Given the description of an element on the screen output the (x, y) to click on. 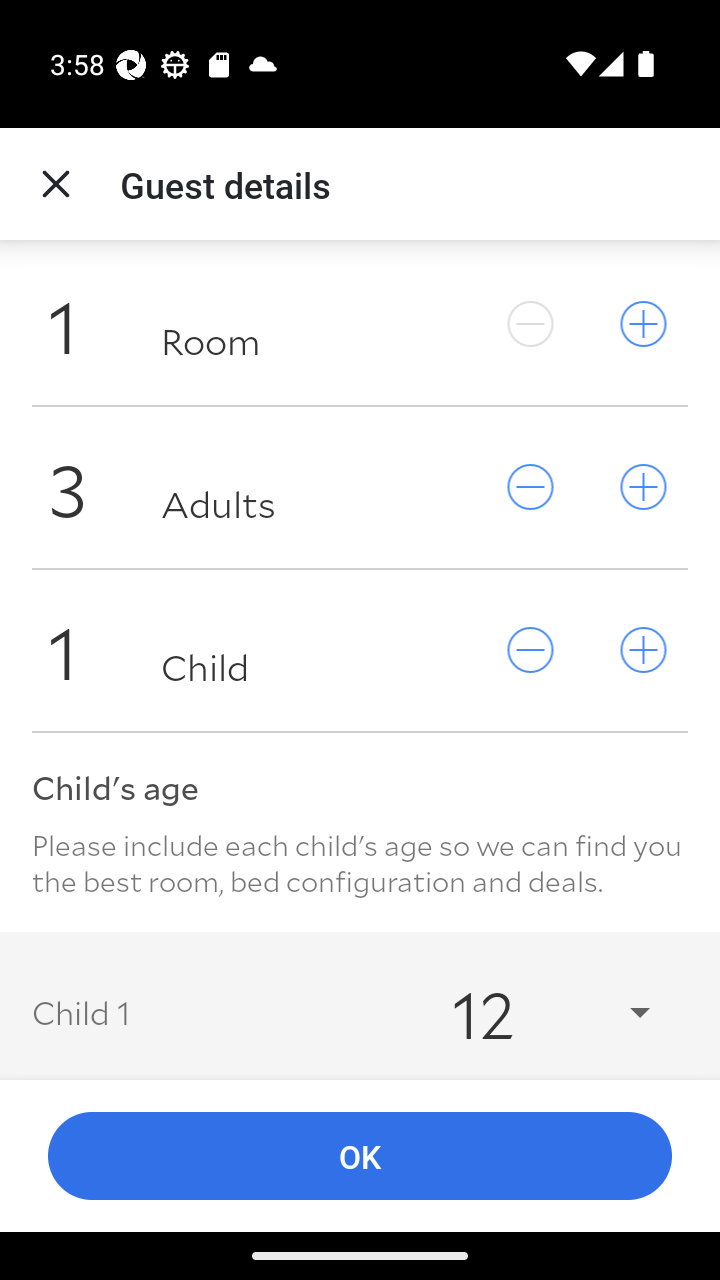
12 (531, 1012)
OK (359, 1156)
